Given the description of an element on the screen output the (x, y) to click on. 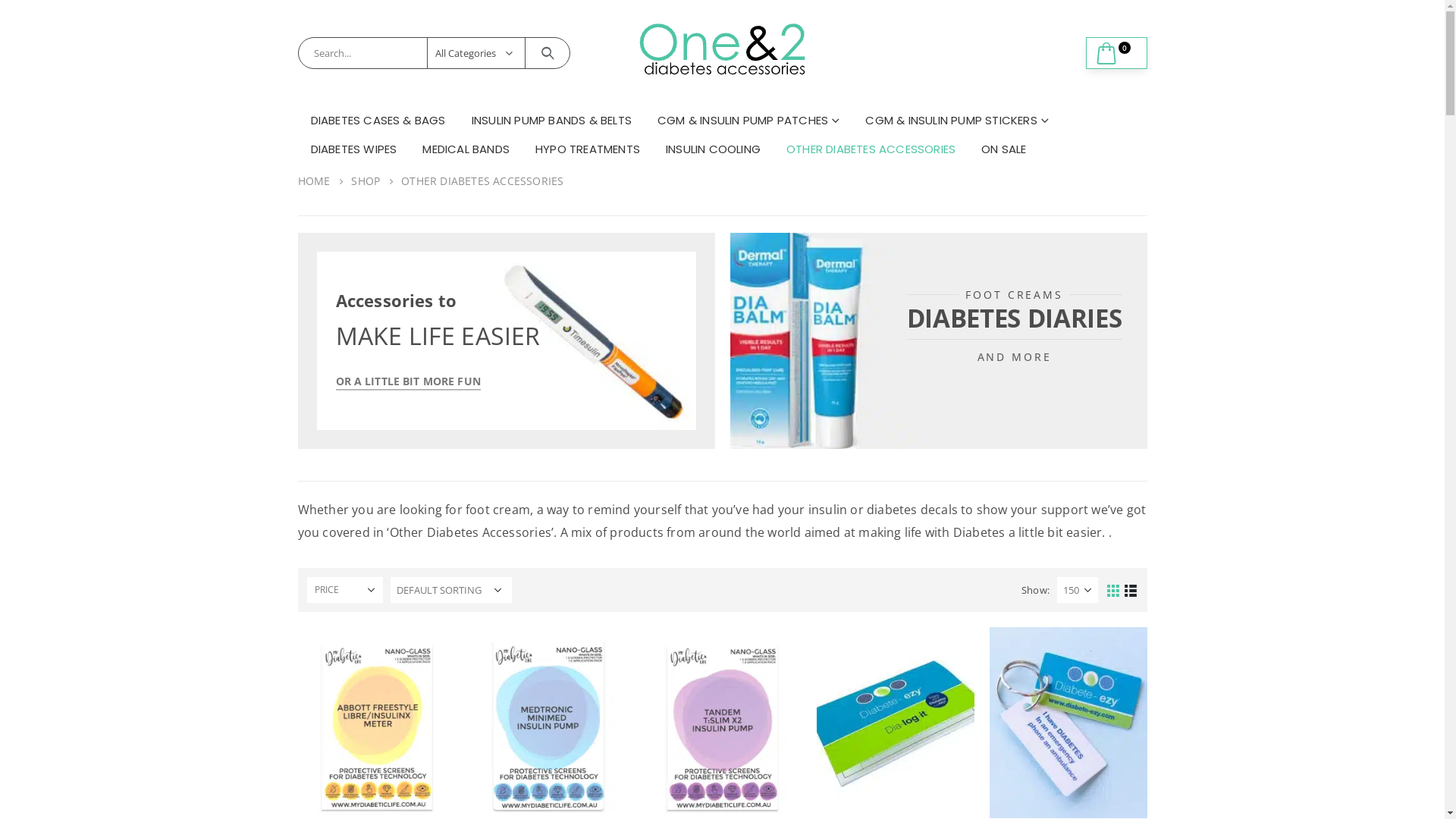
HYPO TREATMENTS Element type: text (587, 148)
CGM & INSULIN PUMP STICKERS Element type: text (956, 120)
HOME Element type: text (313, 180)
SHOP Element type: text (365, 180)
OTHER DIABETES ACCESSORIES Element type: text (870, 148)
Search Element type: hover (546, 52)
Grid View Element type: hover (1112, 590)
INSULIN PUMP BANDS & BELTS Element type: text (551, 120)
DIABETES CASES & BAGS Element type: text (378, 120)
List View Element type: hover (1130, 590)
DIABETES WIPES Element type: text (353, 148)
OR A LITTLE BIT MORE FUN Element type: text (407, 380)
INSULIN COOLING Element type: text (712, 148)
CGM & INSULIN PUMP PATCHES Element type: text (748, 120)
MEDICAL BANDS Element type: text (465, 148)
ON SALE Element type: text (1003, 148)
